Given the description of an element on the screen output the (x, y) to click on. 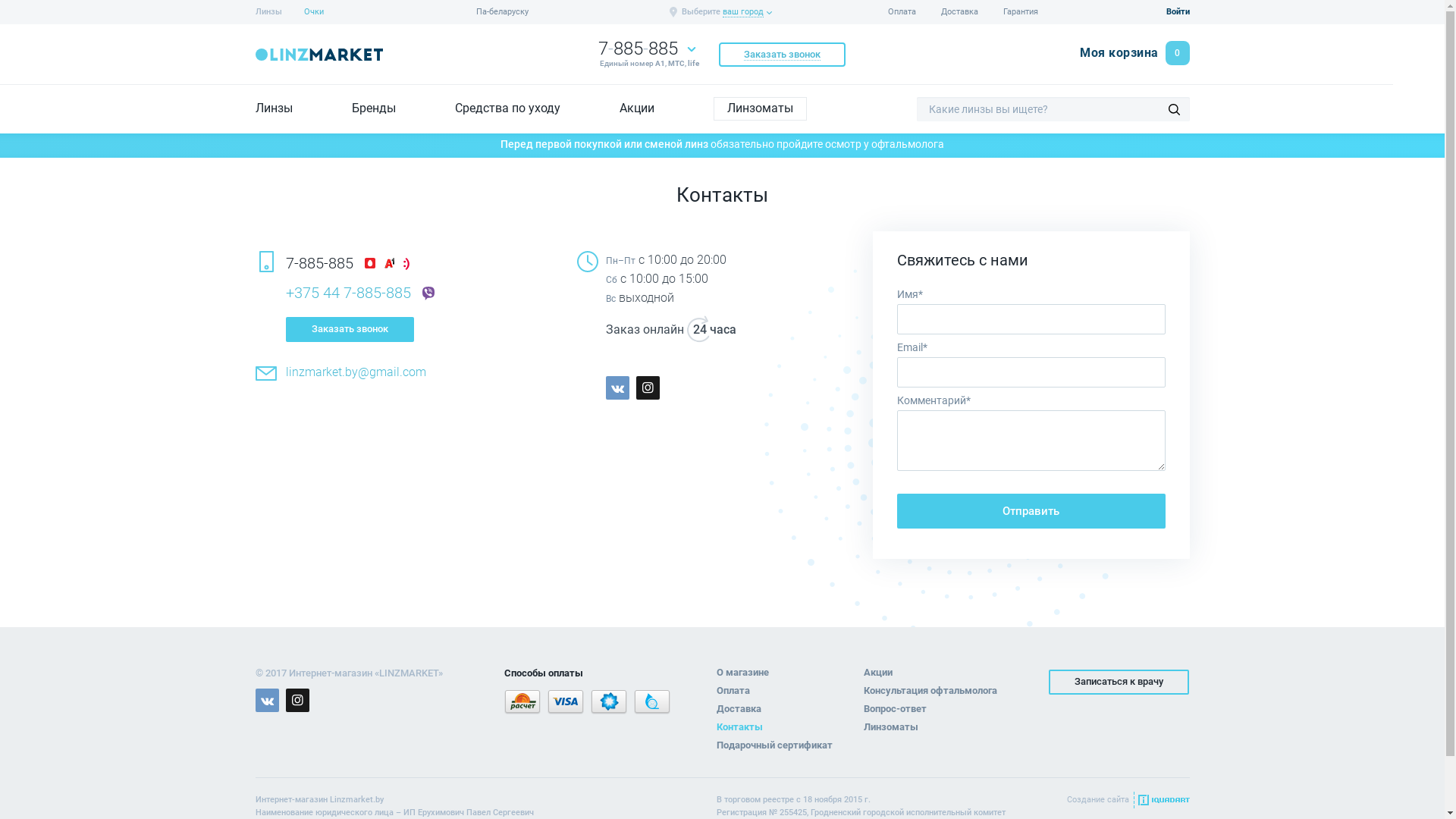
+375 44 7-885-885 Element type: text (347, 292)
7-885-885 Element type: text (637, 48)
Linzmarket Element type: text (318, 54)
linzmarket.by@gmail.com Element type: text (355, 371)
7-885-885 Element type: text (318, 262)
